Given the description of an element on the screen output the (x, y) to click on. 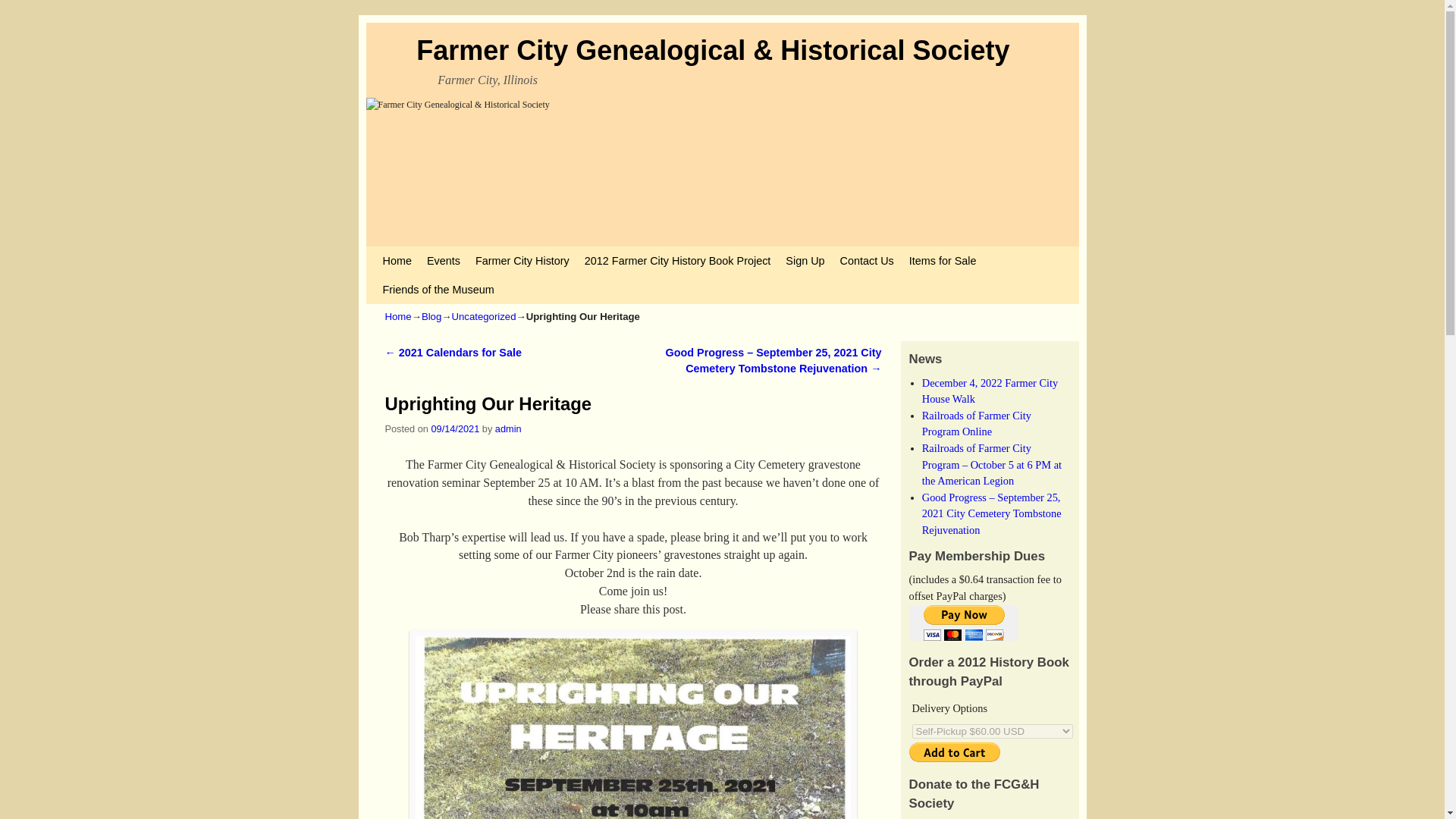
Blog (431, 316)
December 4, 2022 Farmer City House Walk (989, 390)
Home (398, 316)
Events (443, 260)
Skip to primary content (408, 253)
2012 Farmer City History Book Project (677, 260)
8:10 PM (454, 428)
Skip to secondary content (412, 253)
Sign Up (804, 260)
Uncategorized (483, 316)
